Given the description of an element on the screen output the (x, y) to click on. 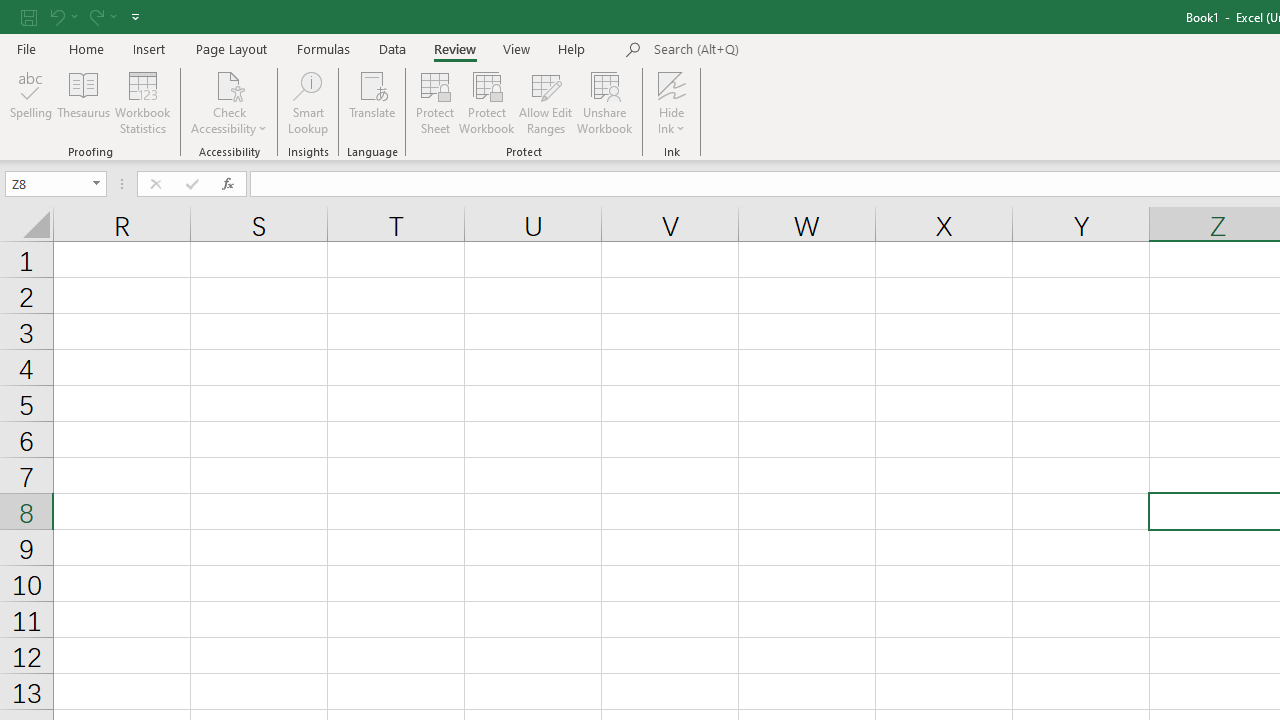
Workbook Statistics (142, 102)
Smart Lookup (308, 102)
Protect Sheet... (434, 102)
